Given the description of an element on the screen output the (x, y) to click on. 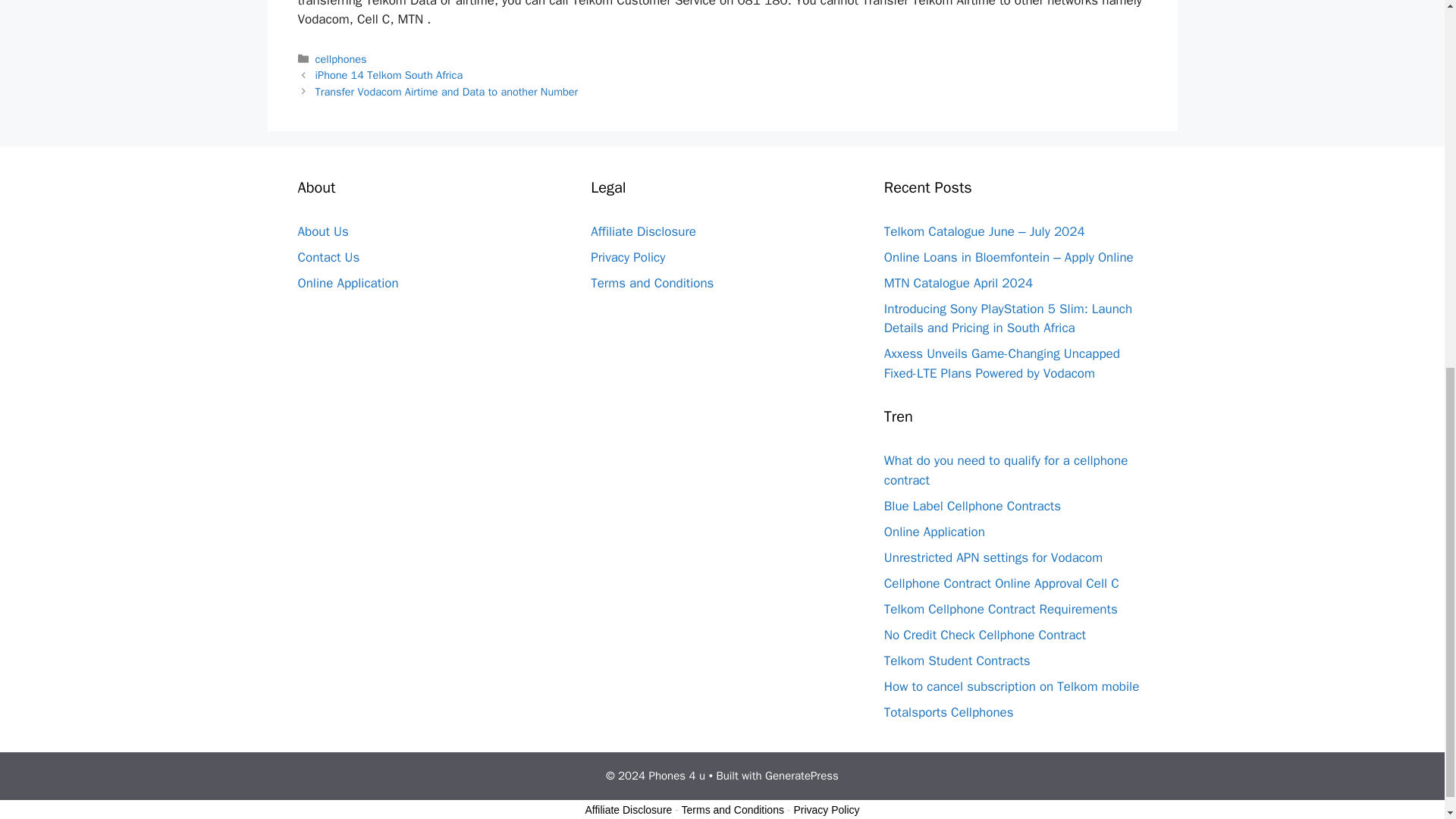
What do you need to qualify for a cellphone contract (1005, 470)
How to cancel subscription on Telkom mobile (1010, 686)
Telkom Student Contracts (956, 660)
Affiliate Disclosure (643, 231)
GeneratePress (801, 775)
Telkom Cellphone Contract Requirements (1000, 609)
Previous (389, 74)
About Us (322, 231)
cellphones (340, 59)
Totalsports Cellphones (948, 712)
Terms and Conditions (652, 283)
Online Application (347, 283)
Online Application (934, 531)
Contact Us (328, 257)
